Given the description of an element on the screen output the (x, y) to click on. 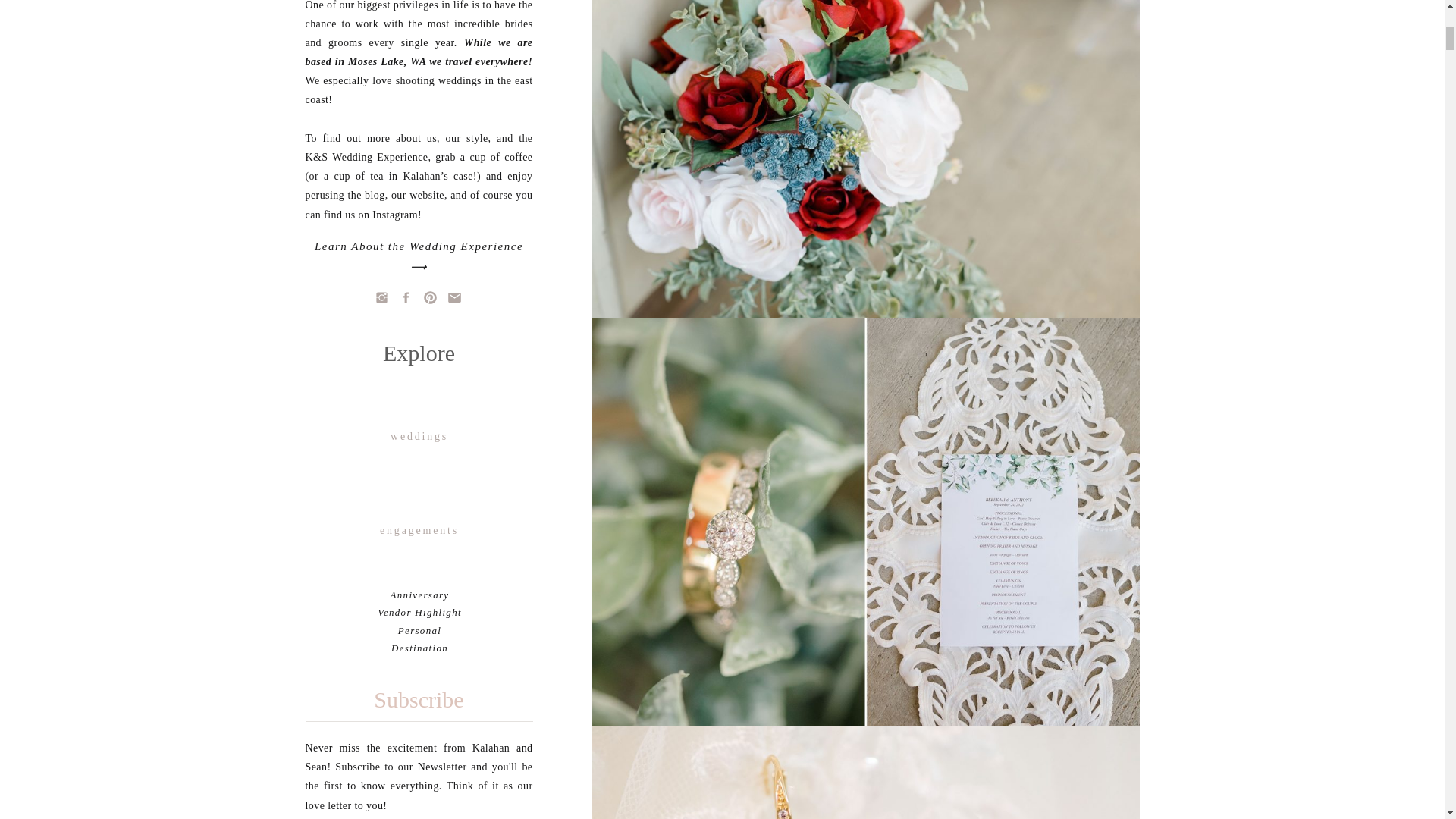
Anniversary (419, 594)
engagements (419, 530)
Vendor Highlight (419, 612)
weddings (419, 436)
Destination (419, 647)
Personal (419, 630)
